Given the description of an element on the screen output the (x, y) to click on. 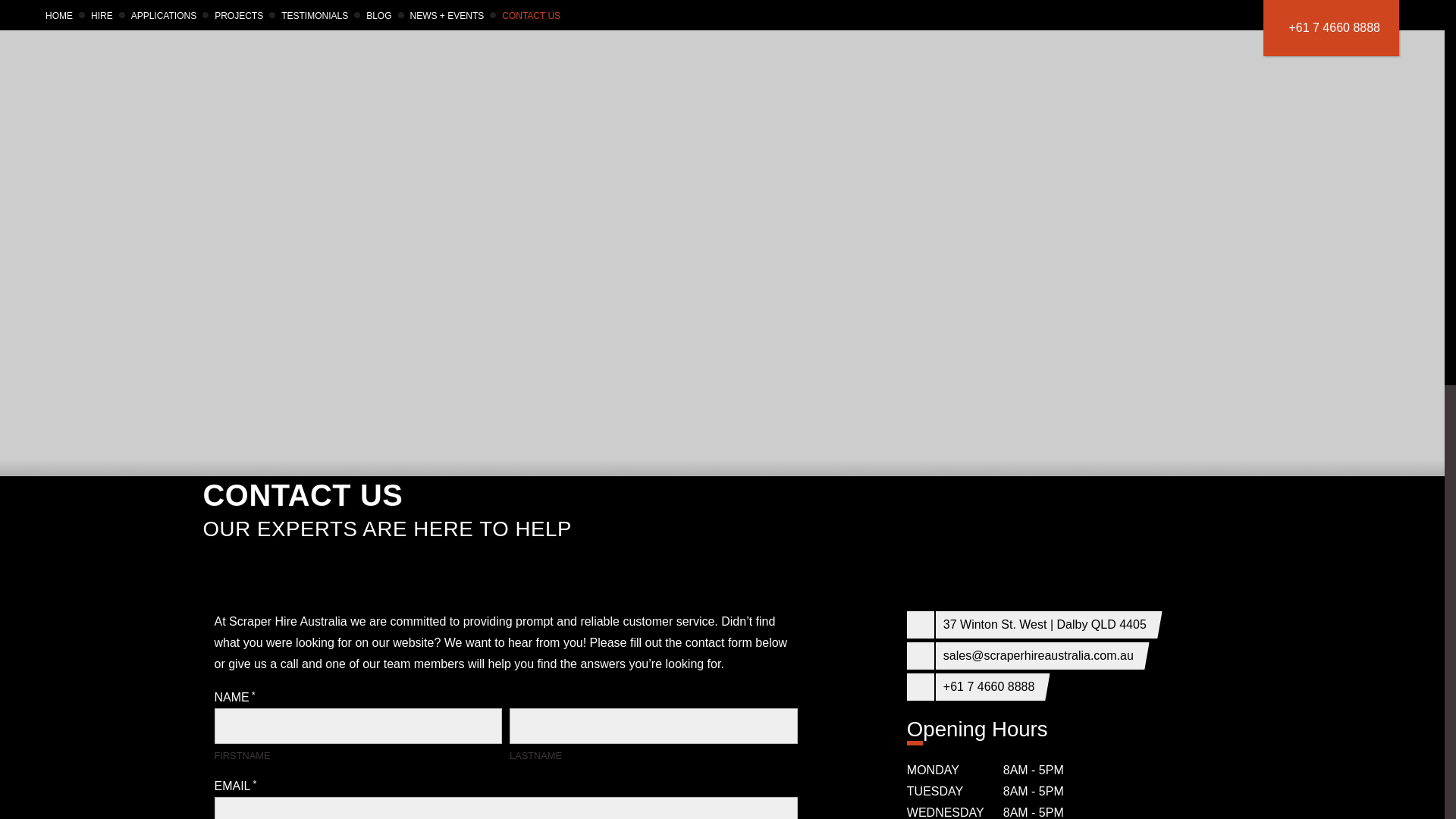
HIRE (101, 15)
TESTIMONIALS (314, 15)
HOME (58, 15)
PROJECTS (238, 15)
CONTACT US (531, 15)
BLOG (378, 15)
APPLICATIONS (163, 15)
